Given the description of an element on the screen output the (x, y) to click on. 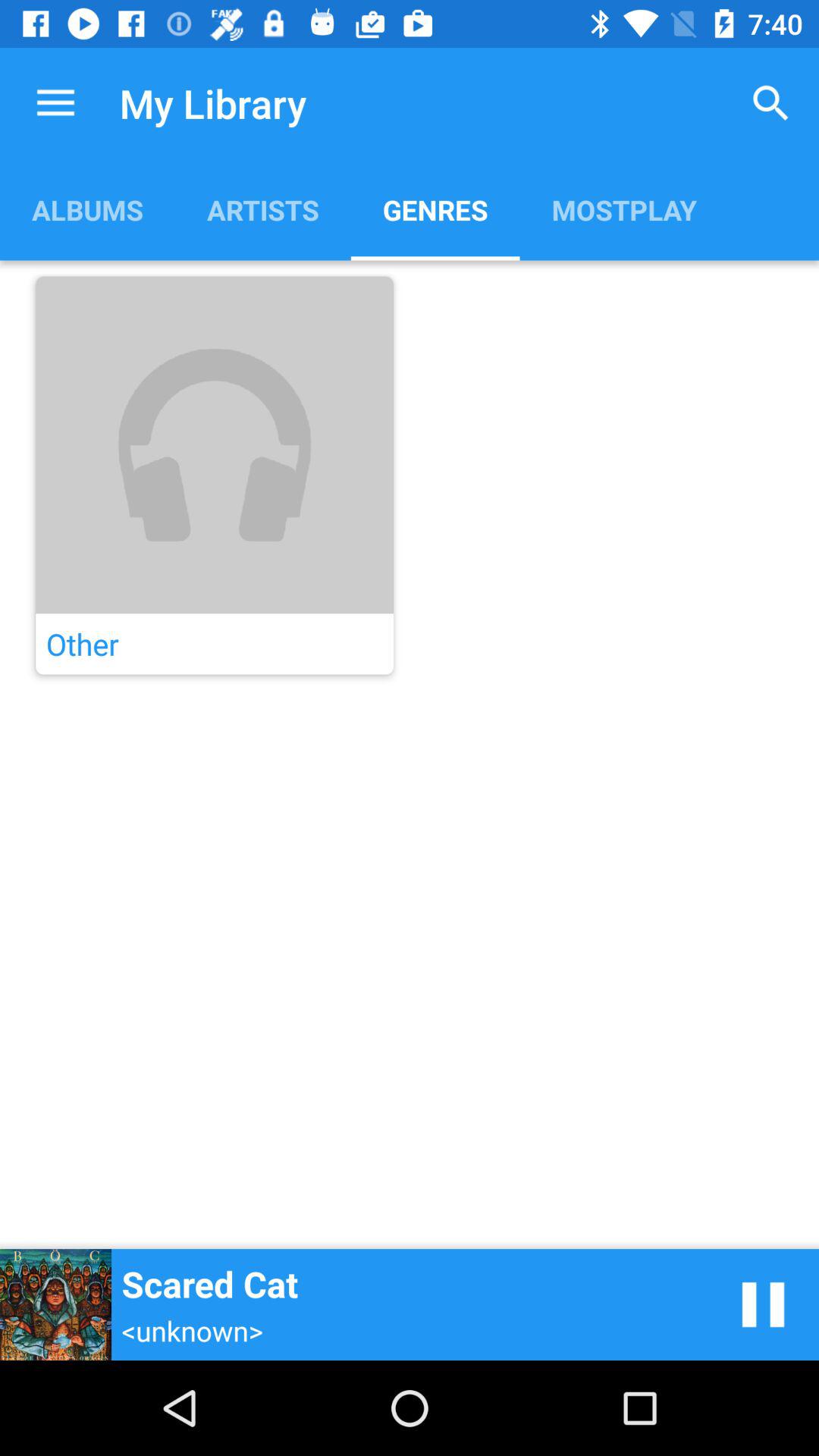
pause music (763, 1304)
